Given the description of an element on the screen output the (x, y) to click on. 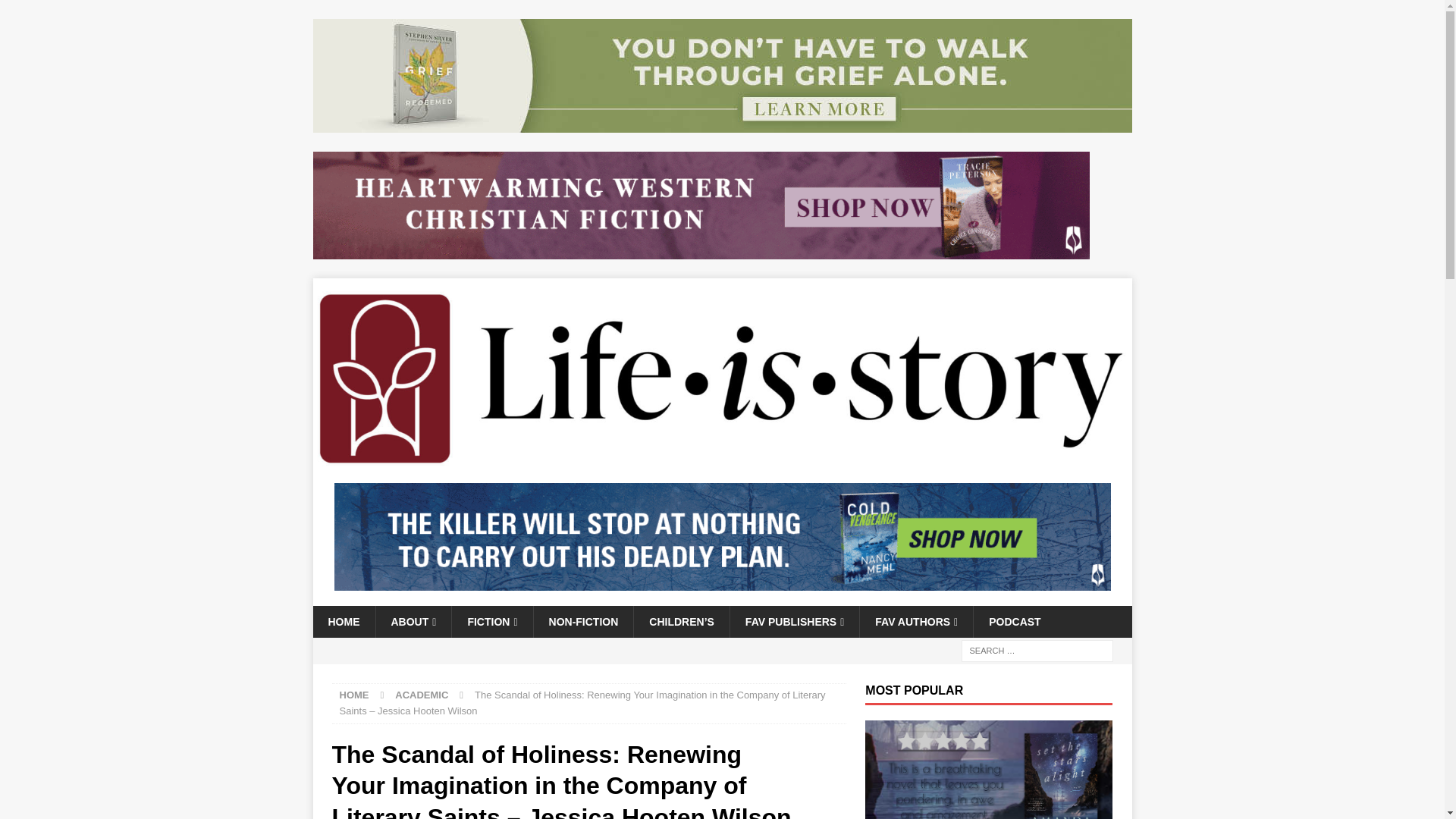
HOME (343, 622)
NON-FICTION (582, 622)
FICTION (491, 622)
ABOUT (412, 622)
Life Is Story (722, 458)
FAV PUBLISHERS (794, 622)
